Given the description of an element on the screen output the (x, y) to click on. 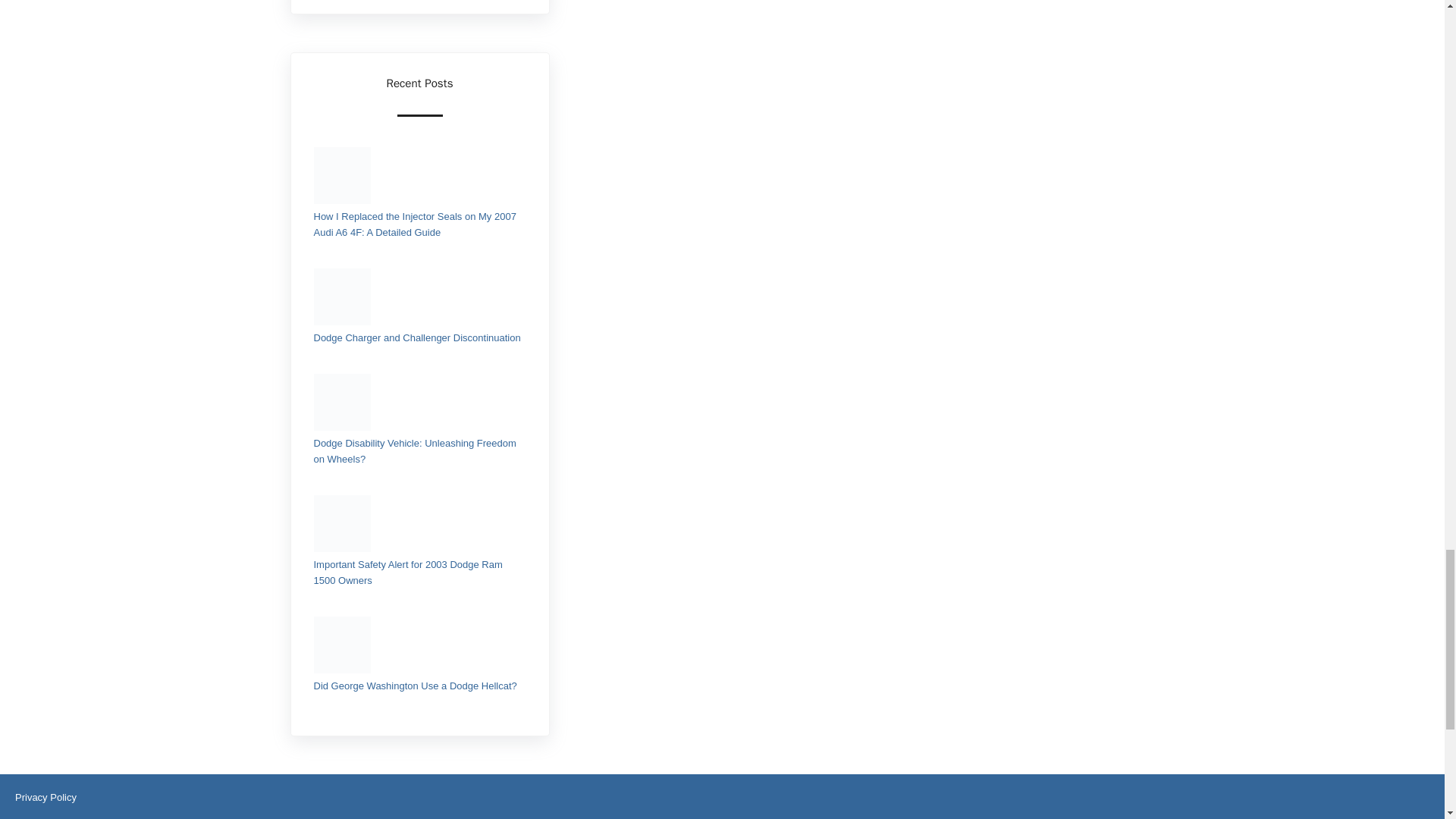
Privacy Policy (45, 797)
Important Safety Alert for 2003 Dodge Ram 1500 Owners 7 (342, 523)
Did George Washington Use a Dodge Hellcat? (415, 685)
Dodge Charger and Challenger Discontinuation 5 (342, 296)
Cookie Policy (44, 817)
Dodge Charger and Challenger Discontinuation (417, 337)
Important Safety Alert for 2003 Dodge Ram 1500 Owners (408, 572)
Dodge Disability Vehicle: Unleashing Freedom on Wheels? 6 (342, 401)
Did George Washington Use a Dodge Hellcat? 8 (342, 644)
Dodge Disability Vehicle: Unleashing Freedom on Wheels? (415, 451)
